Given the description of an element on the screen output the (x, y) to click on. 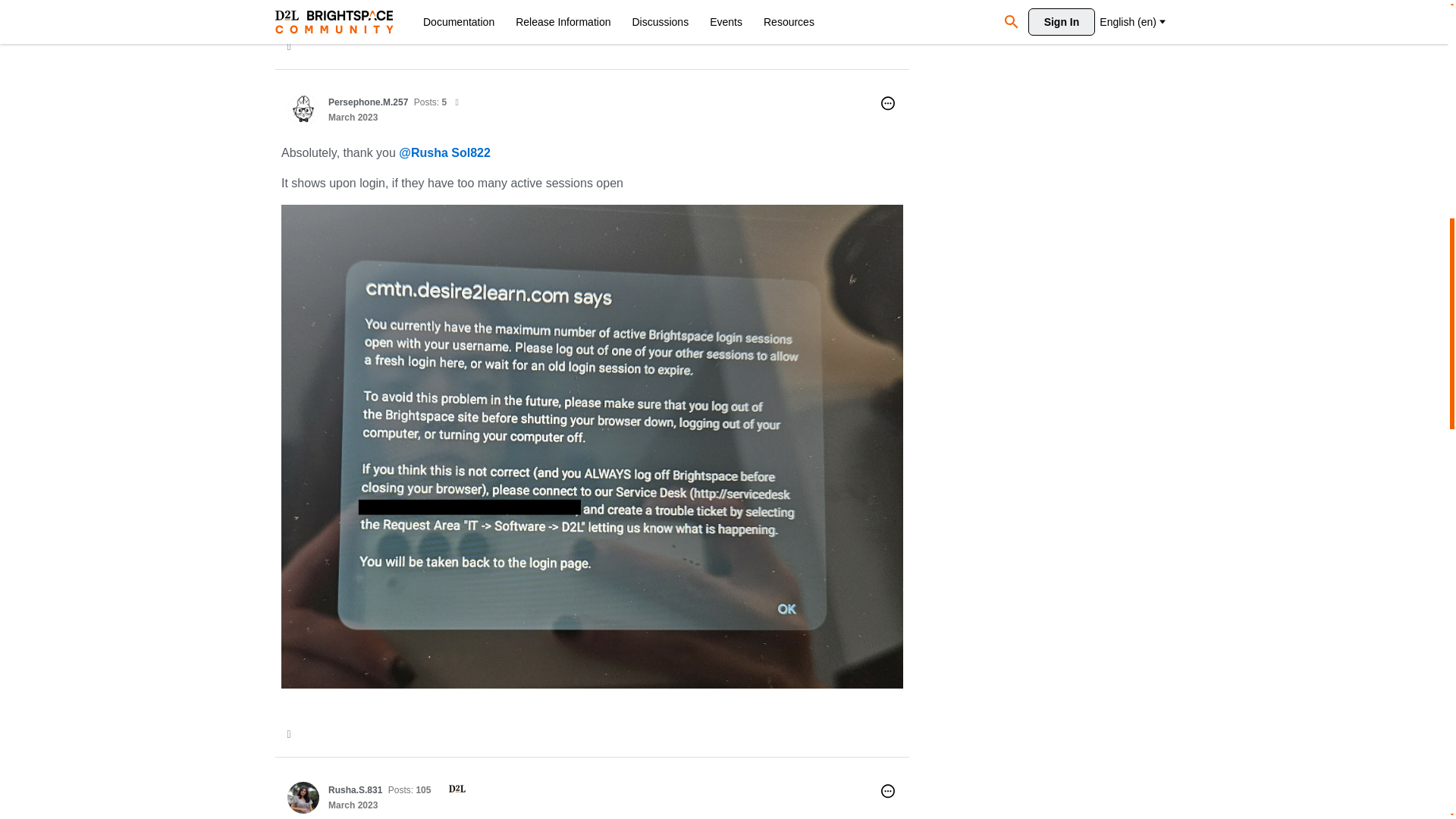
Persephone.M.257 (302, 110)
March 30, 2023 4:26AM (353, 805)
March 21, 2023 4:33PM (353, 117)
D2L Staff Member  (452, 789)
March 2023 (353, 117)
Persephone.M.257 (368, 102)
Share on Twitter (290, 47)
Share on Twitter (290, 735)
March 2023 (353, 805)
Rusha.S.831 (355, 789)
